Given the description of an element on the screen output the (x, y) to click on. 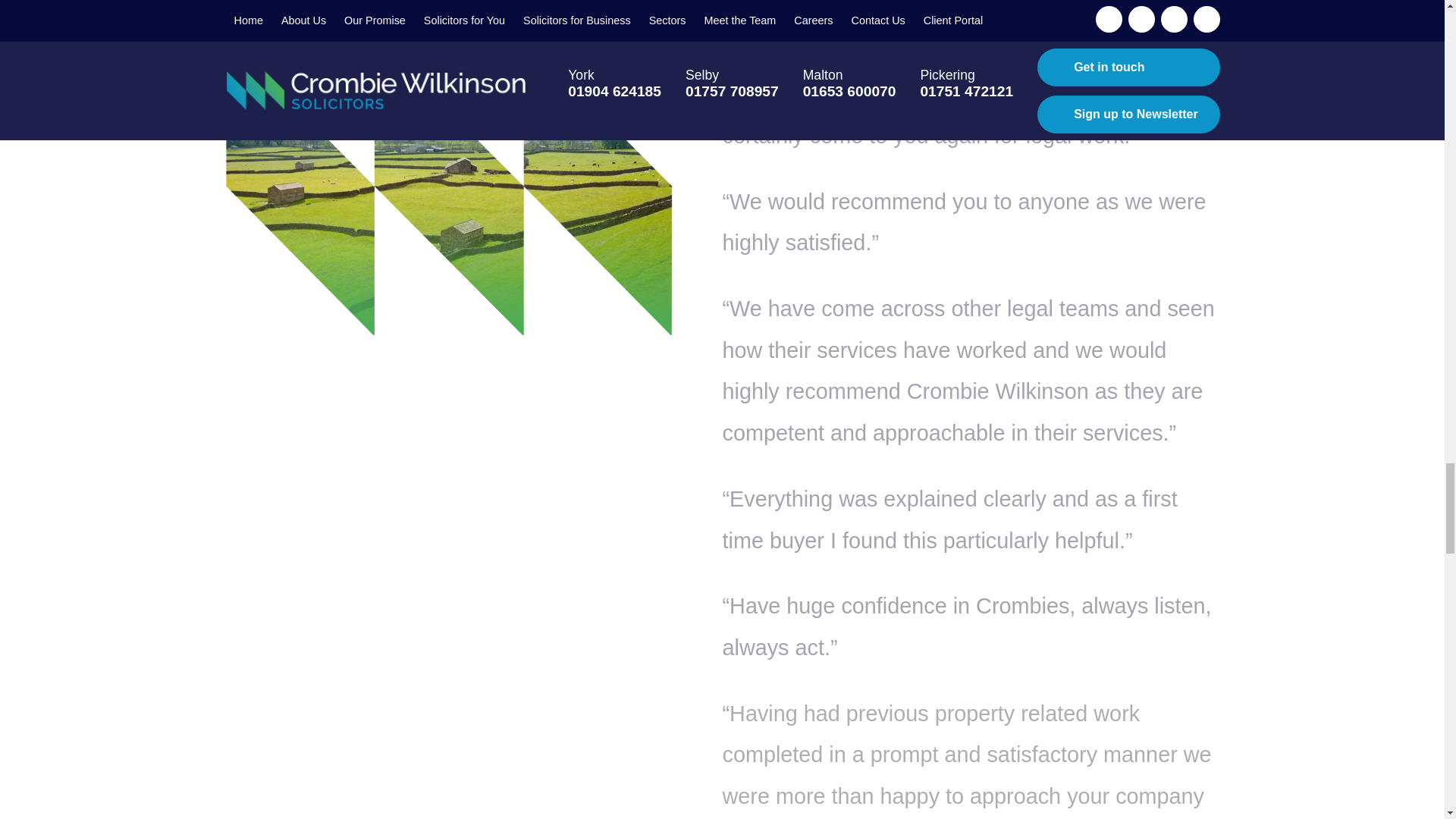
Testimonials (447, 185)
